Given the description of an element on the screen output the (x, y) to click on. 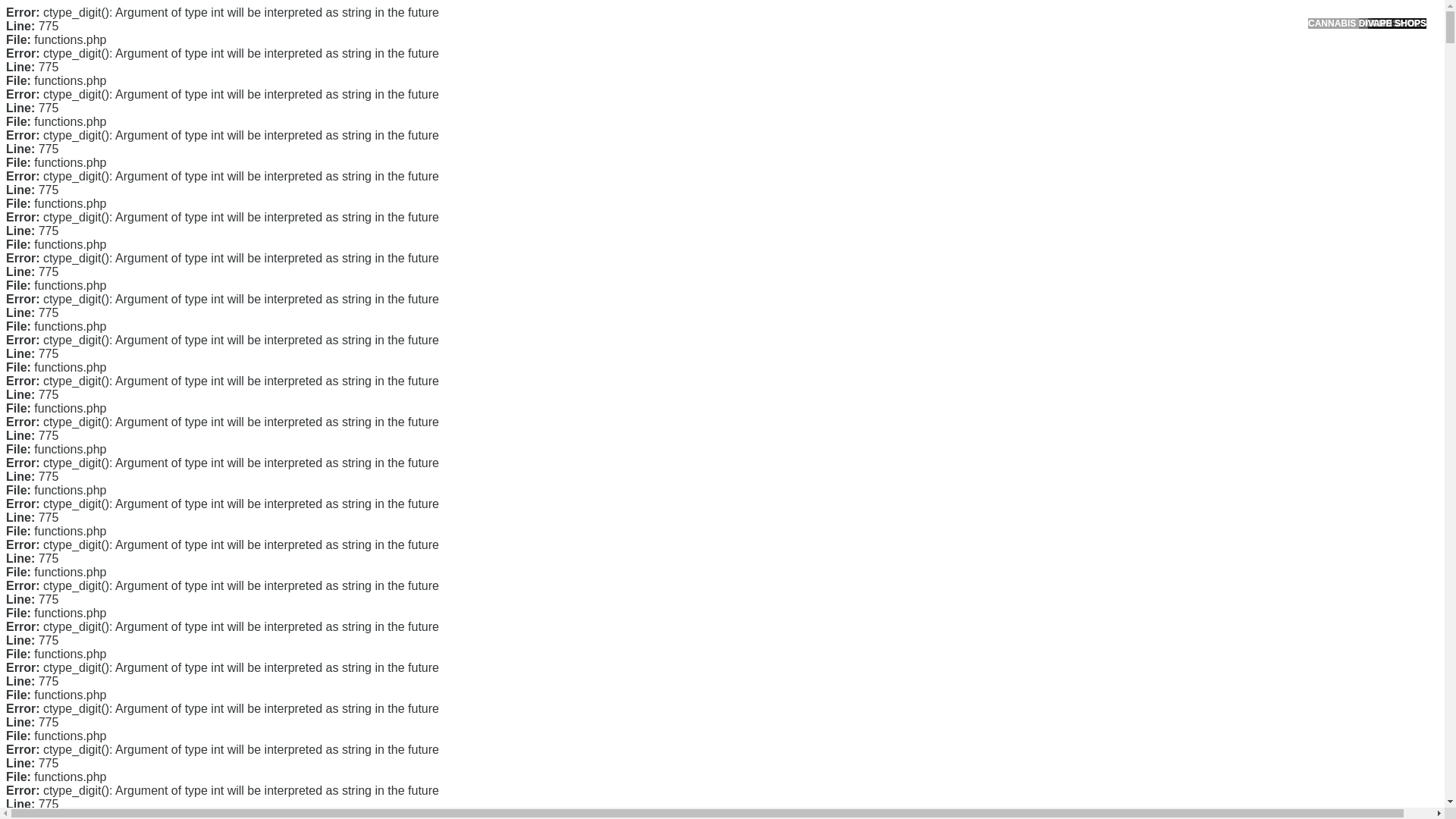
learn this here now (667, 666)
Log in (980, 588)
Latest Article (996, 172)
Skip to content (34, 9)
CONVERSATIONSWITHCARLOS.COM (474, 28)
ADMINISTRATOR (417, 81)
Disclaimer (990, 354)
RSS (977, 612)
Contact Us (991, 258)
DMCA Policy (996, 282)
advice (683, 488)
Search (1050, 85)
August 2020 (996, 432)
Privacy Policy (999, 306)
Search for: (1049, 47)
